Given the description of an element on the screen output the (x, y) to click on. 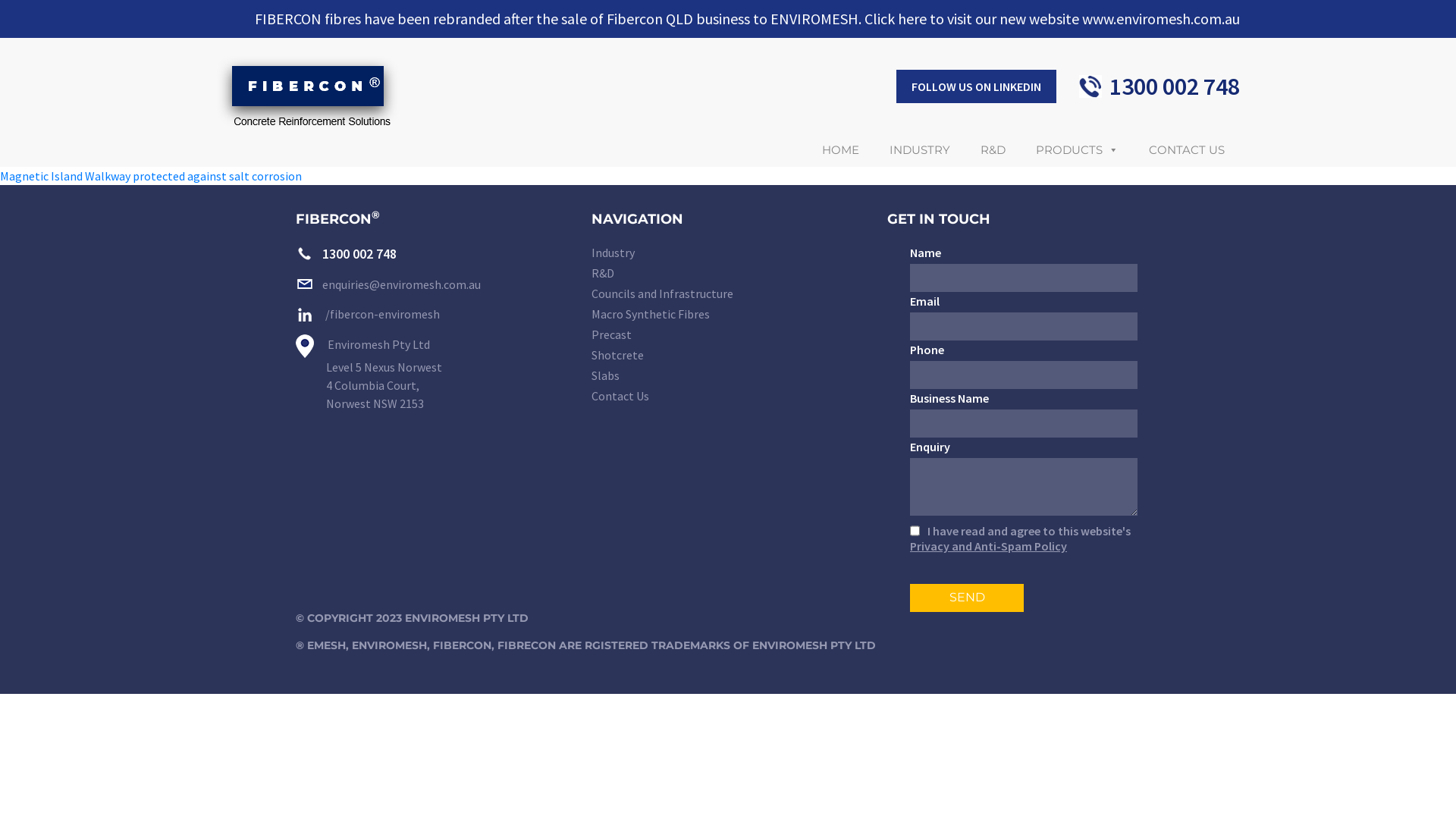
Industry Element type: text (727, 253)
Precast Element type: text (727, 335)
1300 002 748 Element type: text (1174, 86)
R&D Element type: text (992, 149)
Slabs Element type: text (727, 376)
Contact Us Element type: text (727, 396)
FOLLOW US ON LINKEDIN Element type: text (976, 86)
INDUSTRY Element type: text (919, 149)
CONTACT US Element type: text (1186, 149)
Magnetic Island Walkway protected against salt corrosion Element type: text (150, 175)
R&D Element type: text (727, 273)
PRODUCTS Element type: text (1076, 149)
Privacy and Anti-Spam Policy Element type: text (988, 545)
enquiries@enviromesh.com.au Element type: text (387, 283)
/fibercon-enviromesh Element type: text (367, 313)
Councils and Infrastructure Element type: text (727, 294)
Macro Synthetic Fibres Element type: text (727, 314)
HOME Element type: text (840, 149)
1300 002 748 Element type: text (345, 253)
Shotcrete Element type: text (727, 355)
Send Element type: text (966, 597)
